Given the description of an element on the screen output the (x, y) to click on. 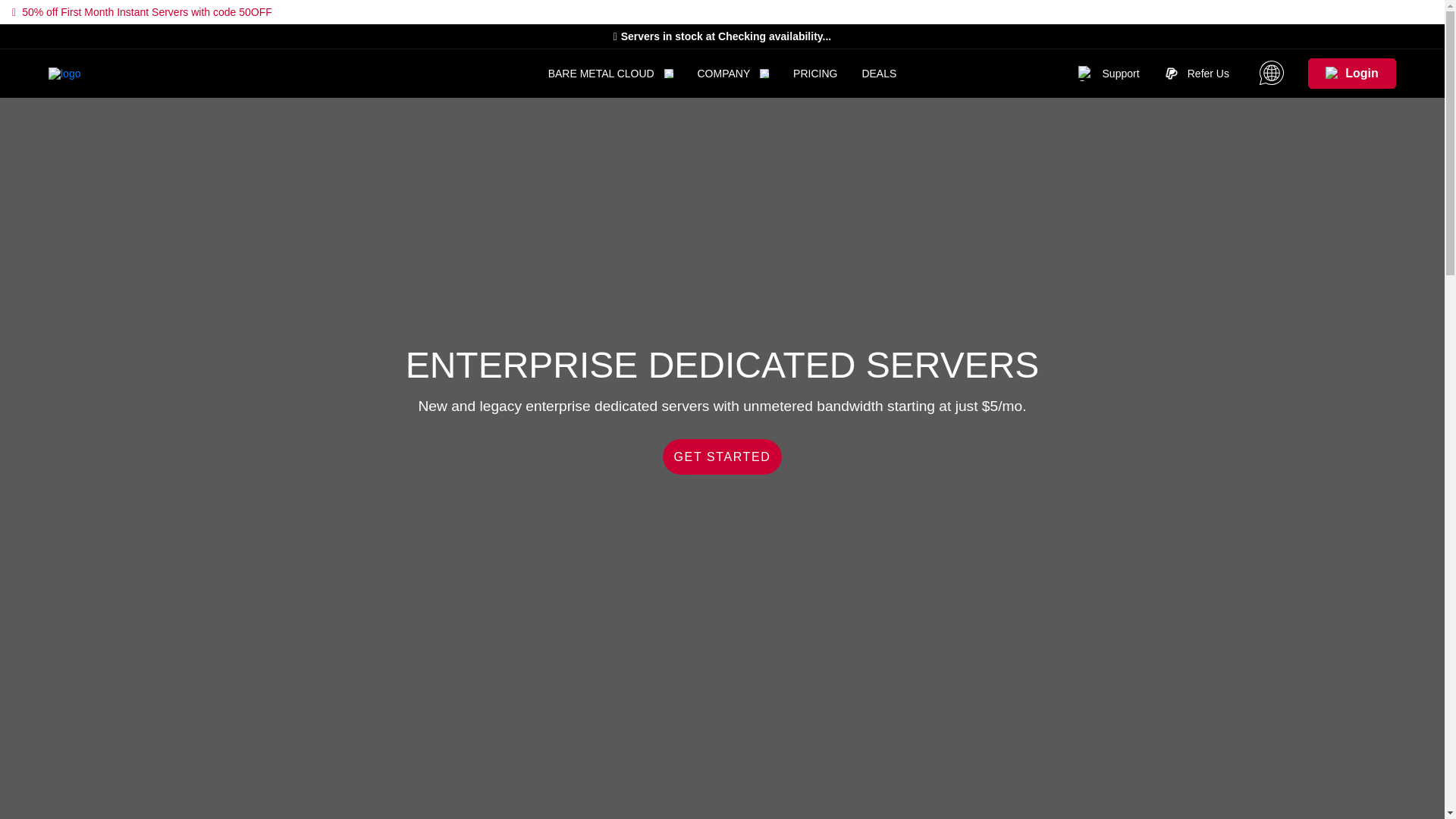
Refer Us (1195, 73)
DEALS (878, 73)
Support (1108, 73)
PRICING (815, 73)
Login (1351, 72)
